Given the description of an element on the screen output the (x, y) to click on. 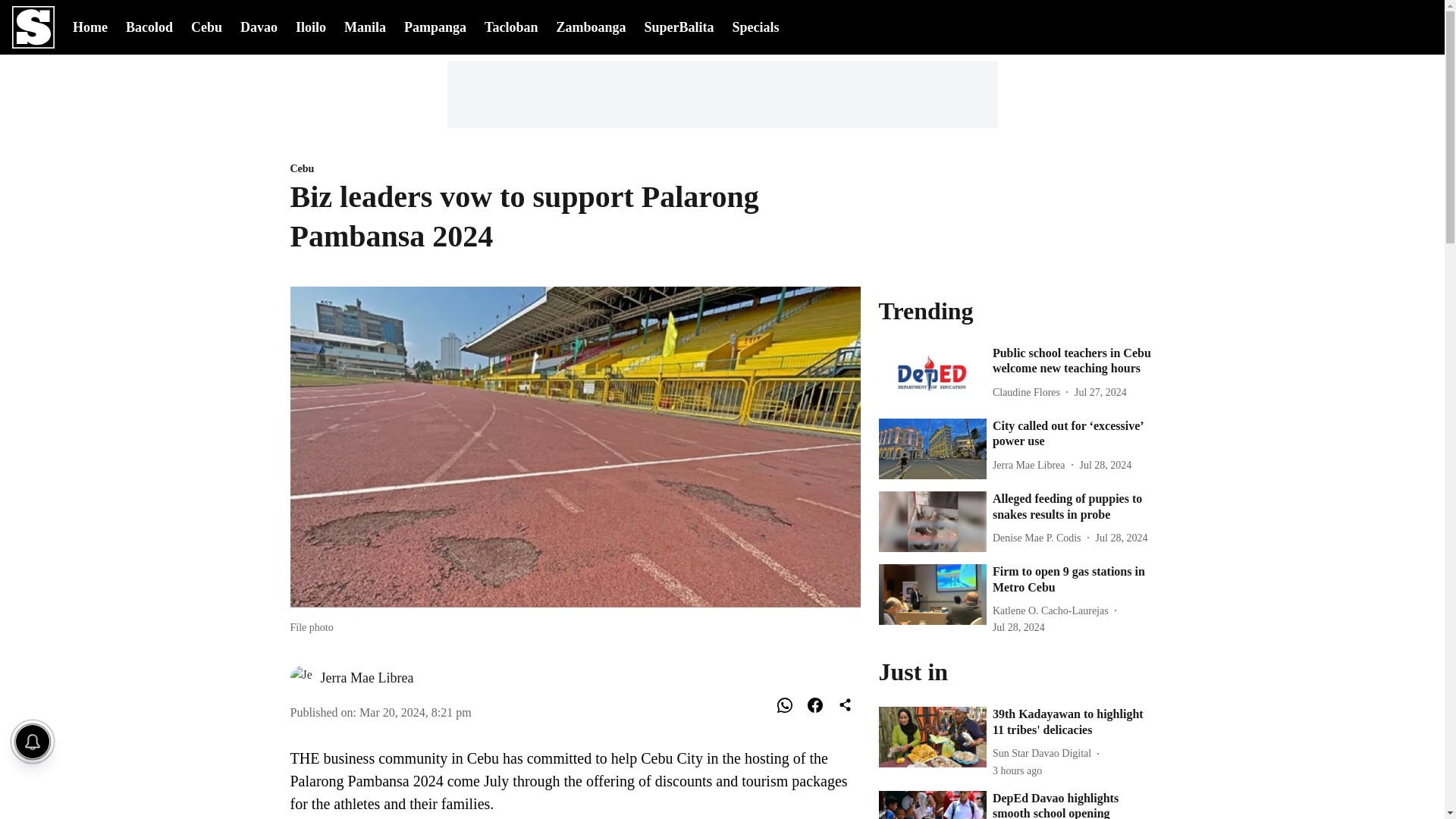
Claudine Flores (1028, 392)
Manila (364, 26)
Cebu (206, 26)
2024-07-27 12:28 (1100, 392)
Jerra Mae Librea (366, 677)
2024-07-28 02:32 (1122, 537)
Home (89, 26)
2024-07-28 12:16 (1106, 465)
Zamboanga (591, 26)
2024-03-20 12:21 (415, 711)
Denise Mae P. Codis (1039, 537)
Pampanga (434, 26)
2024-07-28 11:53 (1018, 627)
SuperBalita (678, 27)
